Given the description of an element on the screen output the (x, y) to click on. 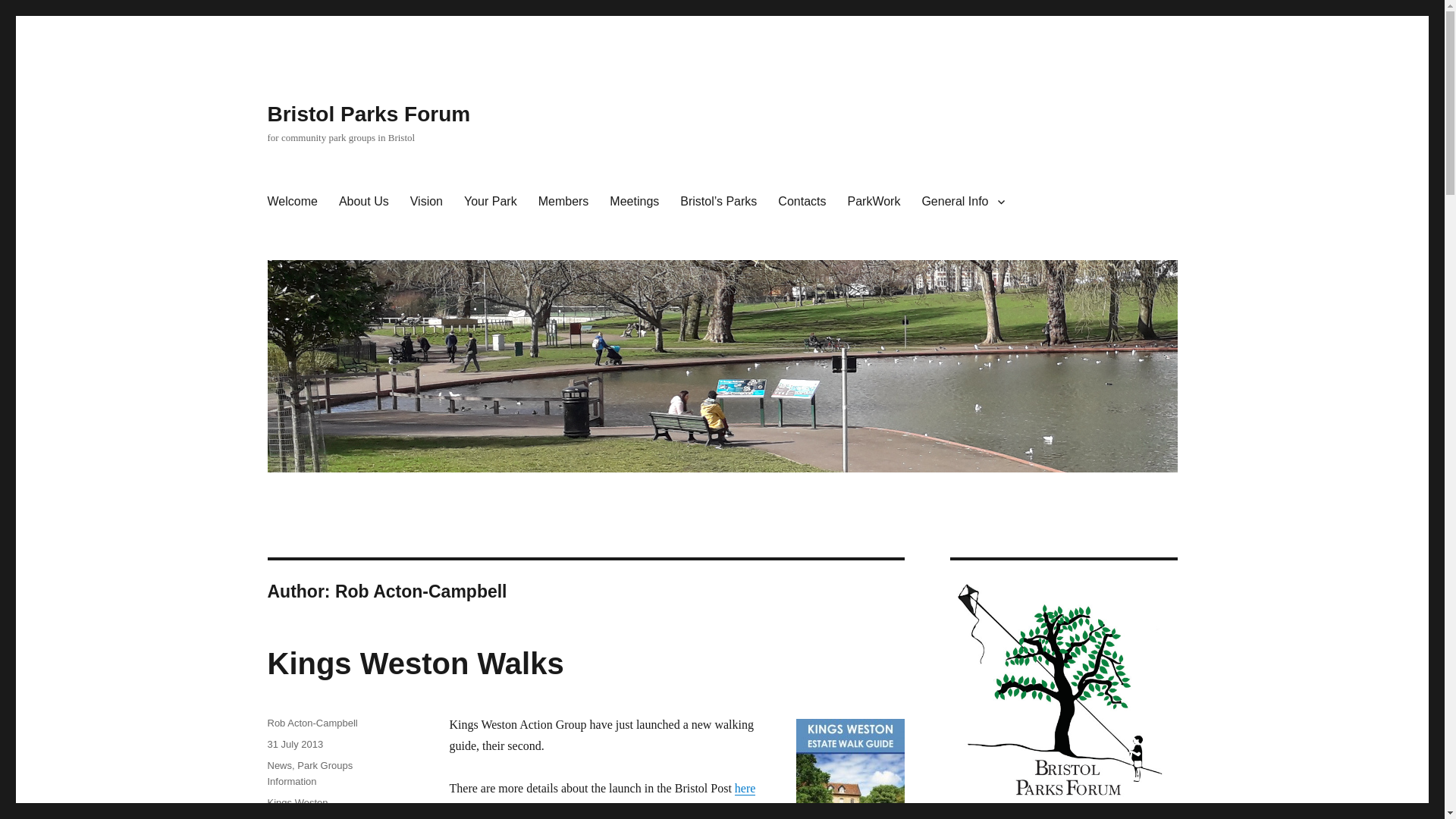
Rob Acton-Campbell (311, 722)
Contacts (801, 201)
Members (563, 201)
Meetings (633, 201)
Kings Weston Walks (414, 663)
ParkWork (873, 201)
Park Groups Information (309, 773)
News (279, 765)
31 July 2013 (294, 744)
About Us (363, 201)
